Given the description of an element on the screen output the (x, y) to click on. 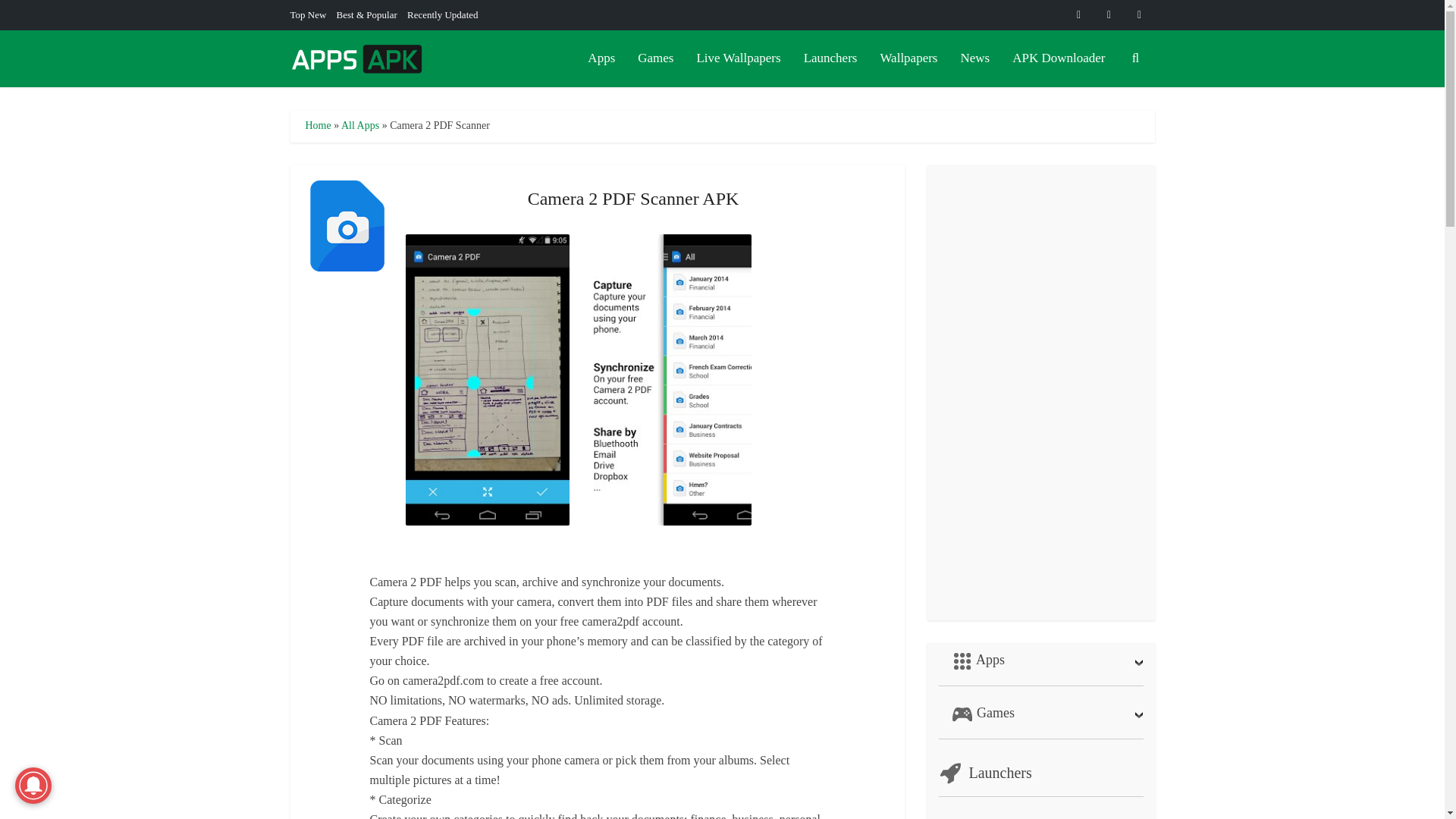
Android Launchers (830, 57)
Launchers (830, 57)
Live Wallpapers (738, 57)
APK Downloader (1058, 57)
Apps (601, 57)
Recently Updated (443, 14)
Wallpapers (908, 57)
Live Wallpapers (738, 57)
Home (317, 125)
Android Apps (1040, 664)
All Apps (359, 125)
Games (655, 57)
All Android Apps (601, 57)
News (975, 57)
Top New (307, 14)
